Given the description of an element on the screen output the (x, y) to click on. 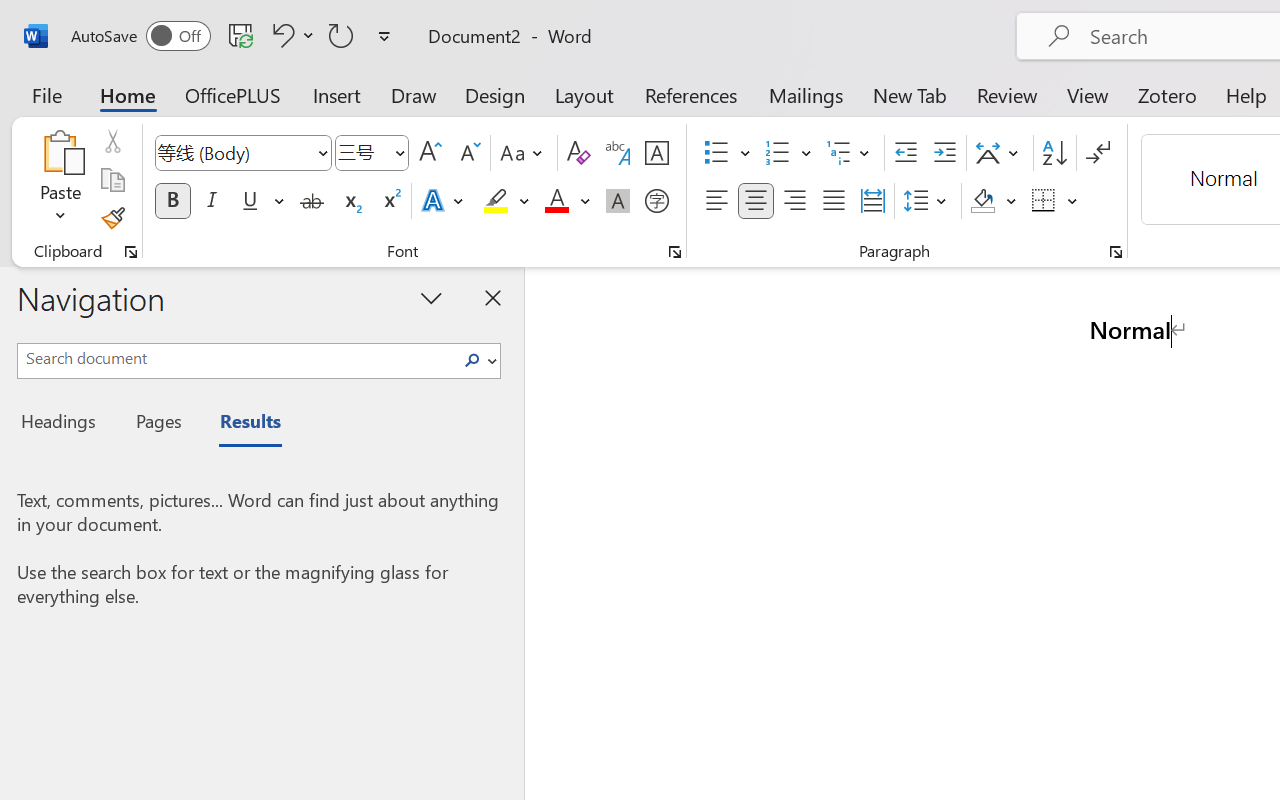
Numbering (778, 153)
Bullets (727, 153)
Character Border (656, 153)
Quick Access Toolbar (233, 36)
Class: NetUIImage (471, 360)
Review (1007, 94)
Office Clipboard... (131, 252)
Center (756, 201)
Font Color Red (556, 201)
Shading (993, 201)
Subscript (350, 201)
Grow Font (430, 153)
Layout (584, 94)
Line and Paragraph Spacing (927, 201)
